Given the description of an element on the screen output the (x, y) to click on. 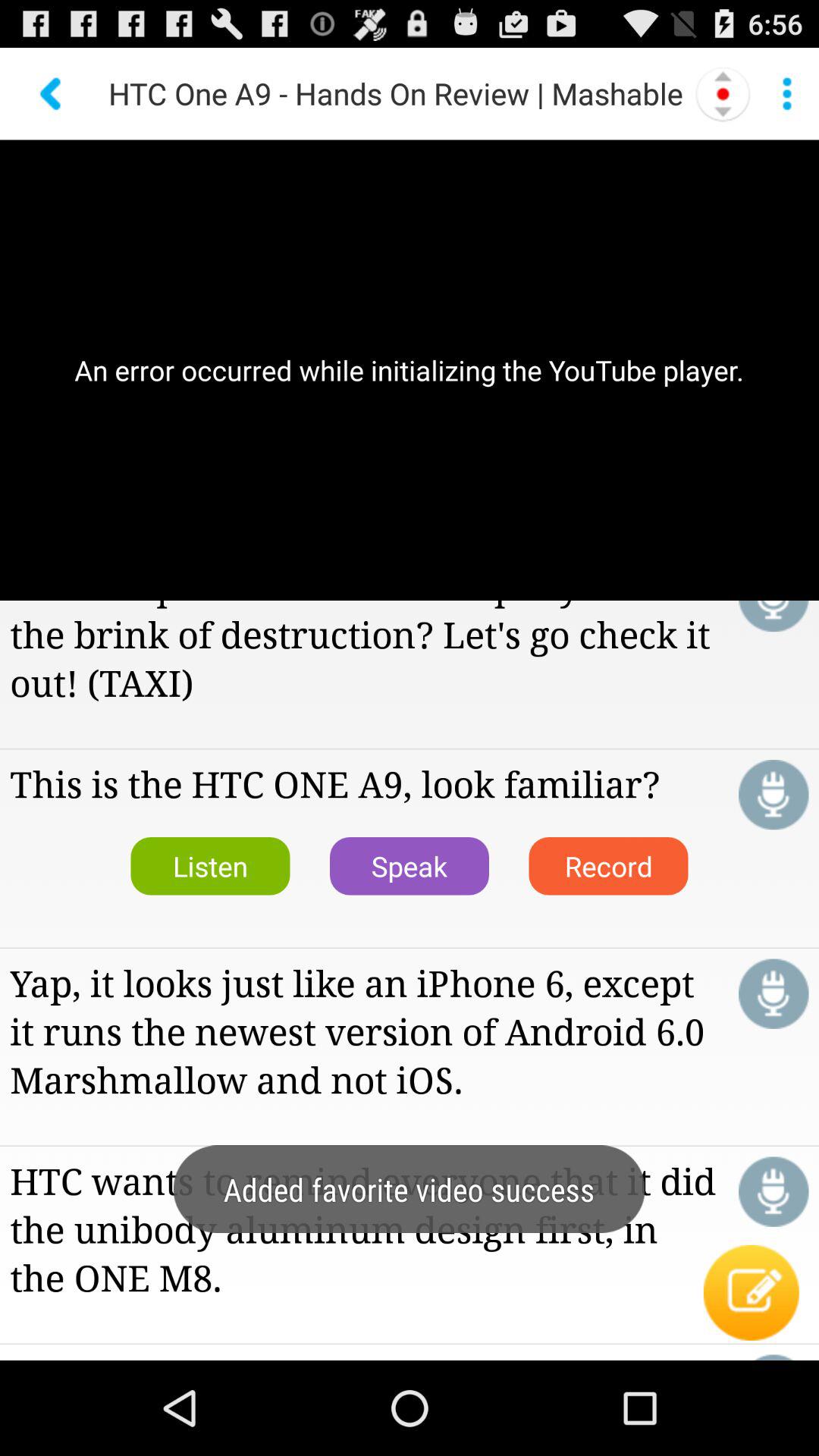
talk to record (773, 993)
